Given the description of an element on the screen output the (x, y) to click on. 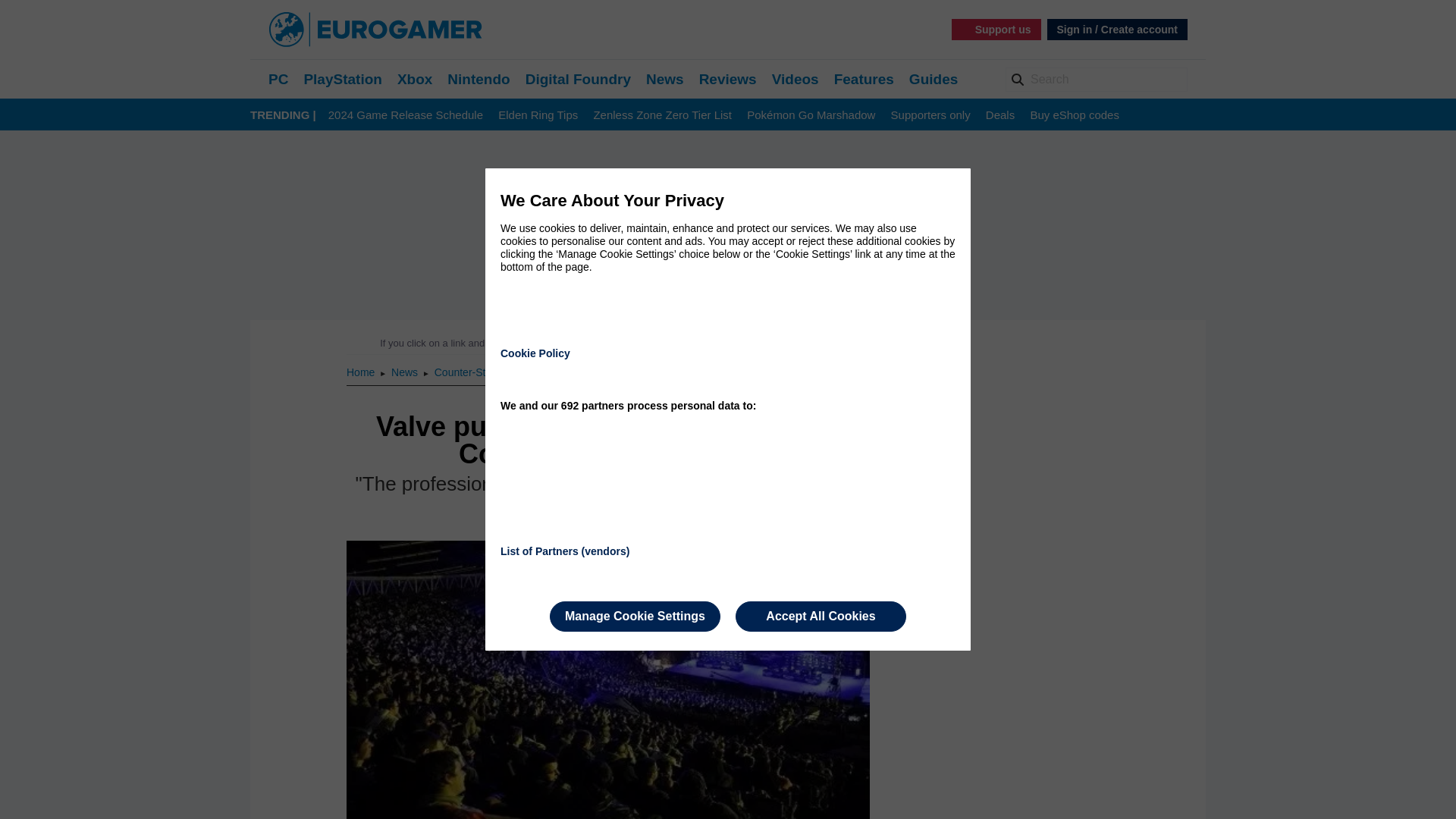
Reviews (727, 78)
News (665, 78)
PlayStation (341, 78)
Deals (999, 114)
Videos (794, 78)
Home (361, 372)
PC (277, 78)
Nintendo (477, 78)
Counter-Strike: Global Offensive (509, 372)
2024 Game Release Schedule (406, 114)
News (665, 78)
Zenless Zone Zero Tier List (662, 114)
Guides (933, 78)
News (405, 372)
Deals (999, 114)
